Given the description of an element on the screen output the (x, y) to click on. 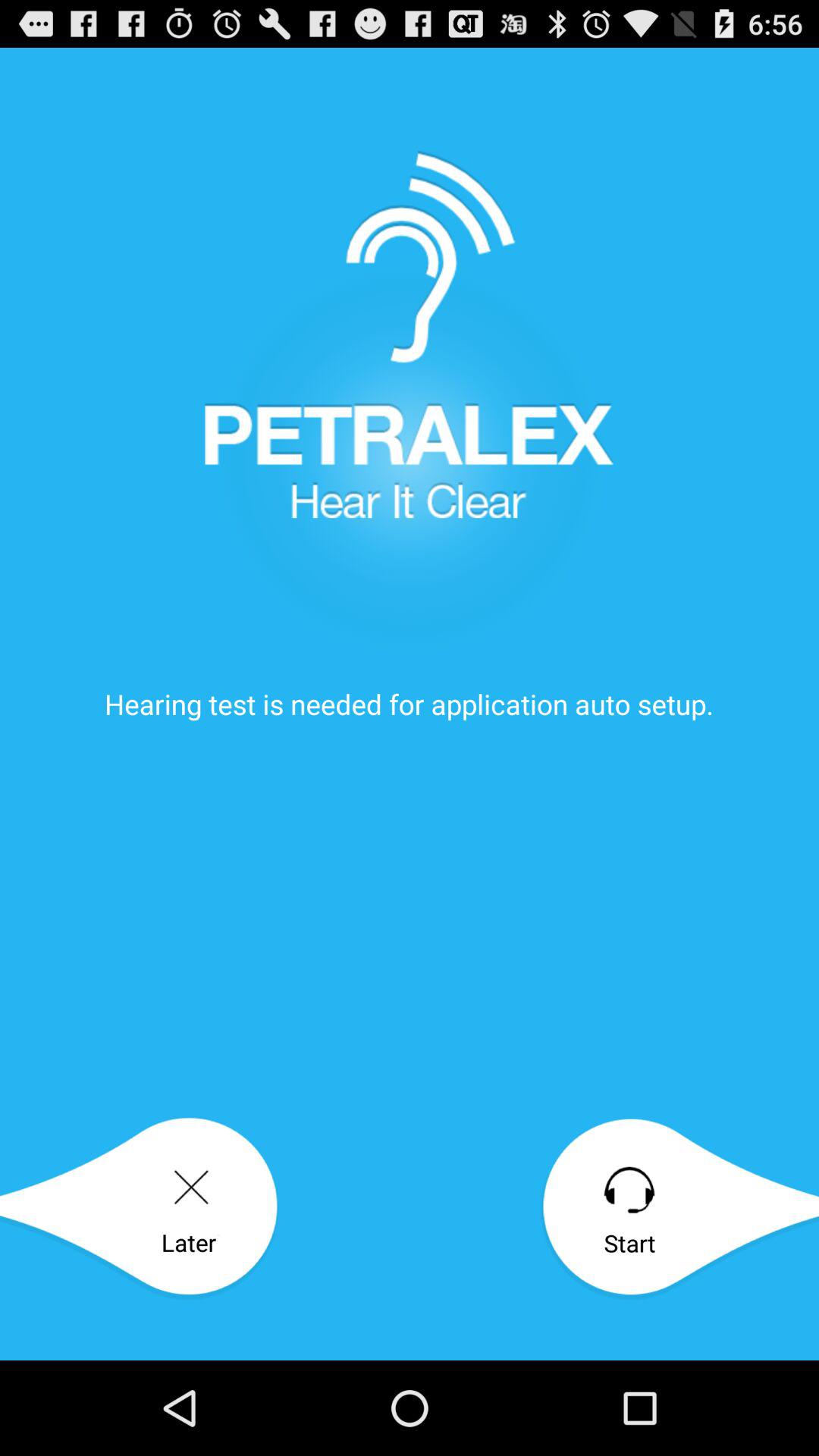
click item at the bottom right corner (679, 1208)
